Given the description of an element on the screen output the (x, y) to click on. 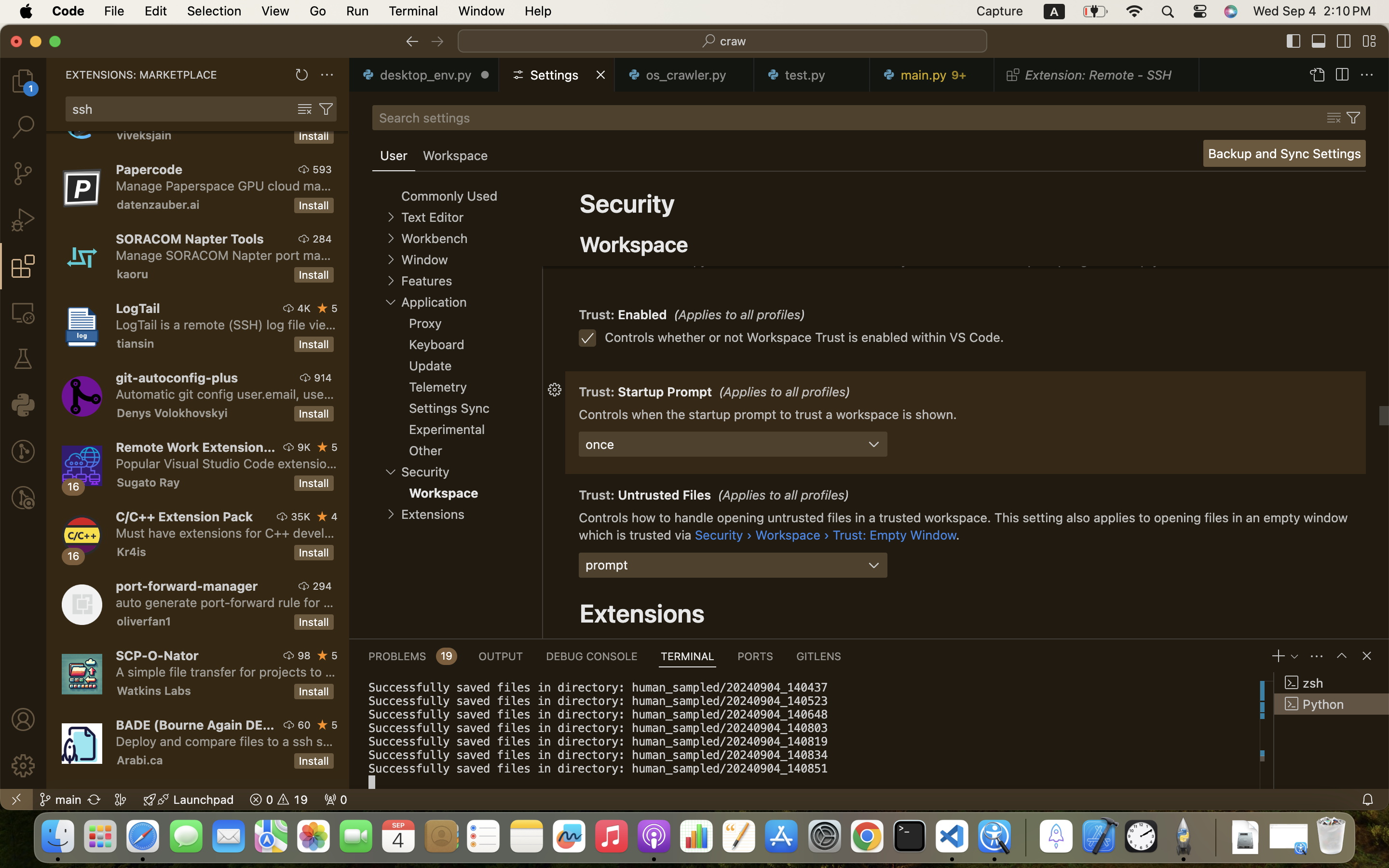
 Element type: AXButton (304, 108)
Other Element type: AXStaticText (425, 450)
